Given the description of an element on the screen output the (x, y) to click on. 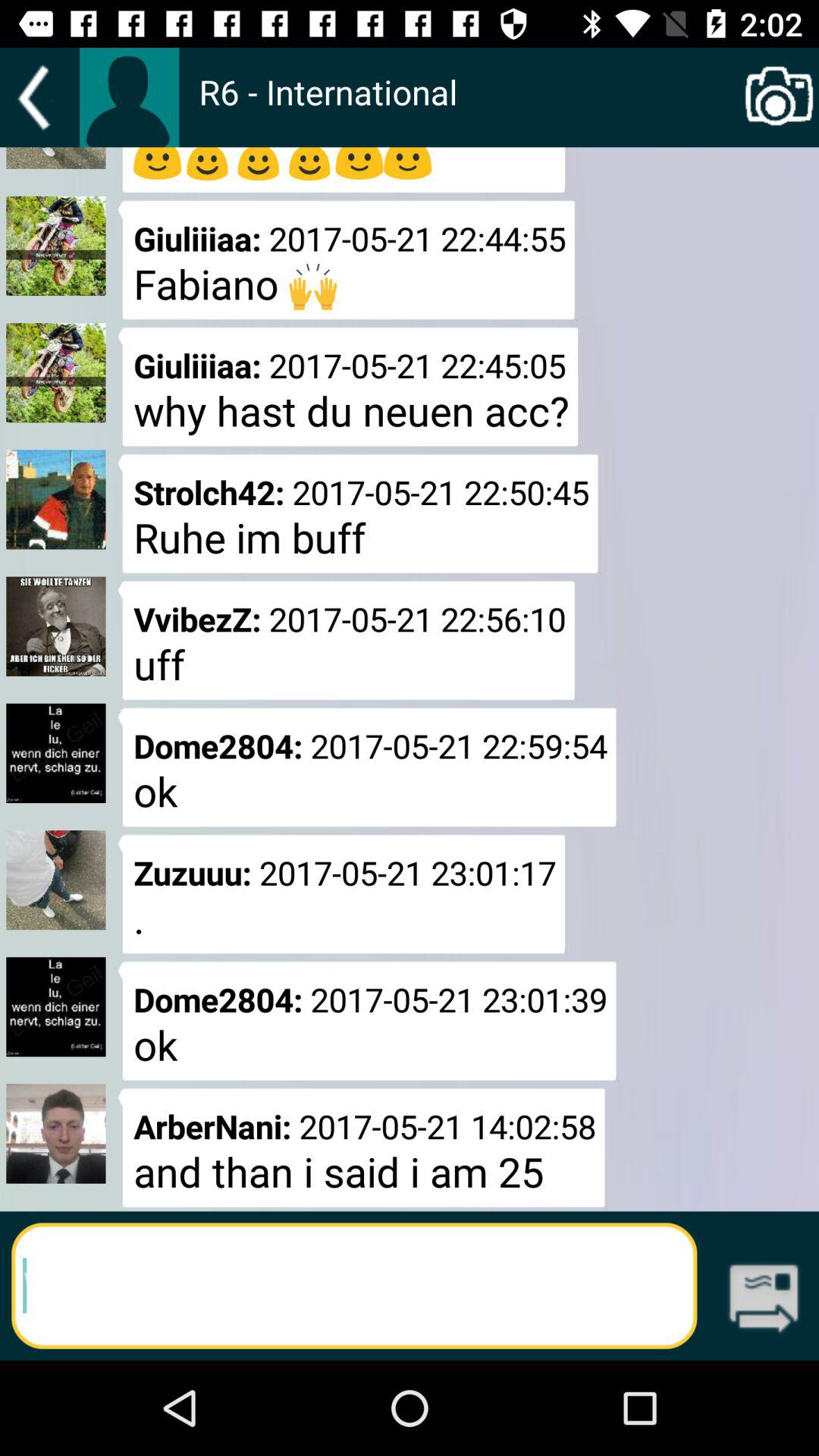
launch strolch42 2017 05 icon (358, 513)
